Given the description of an element on the screen output the (x, y) to click on. 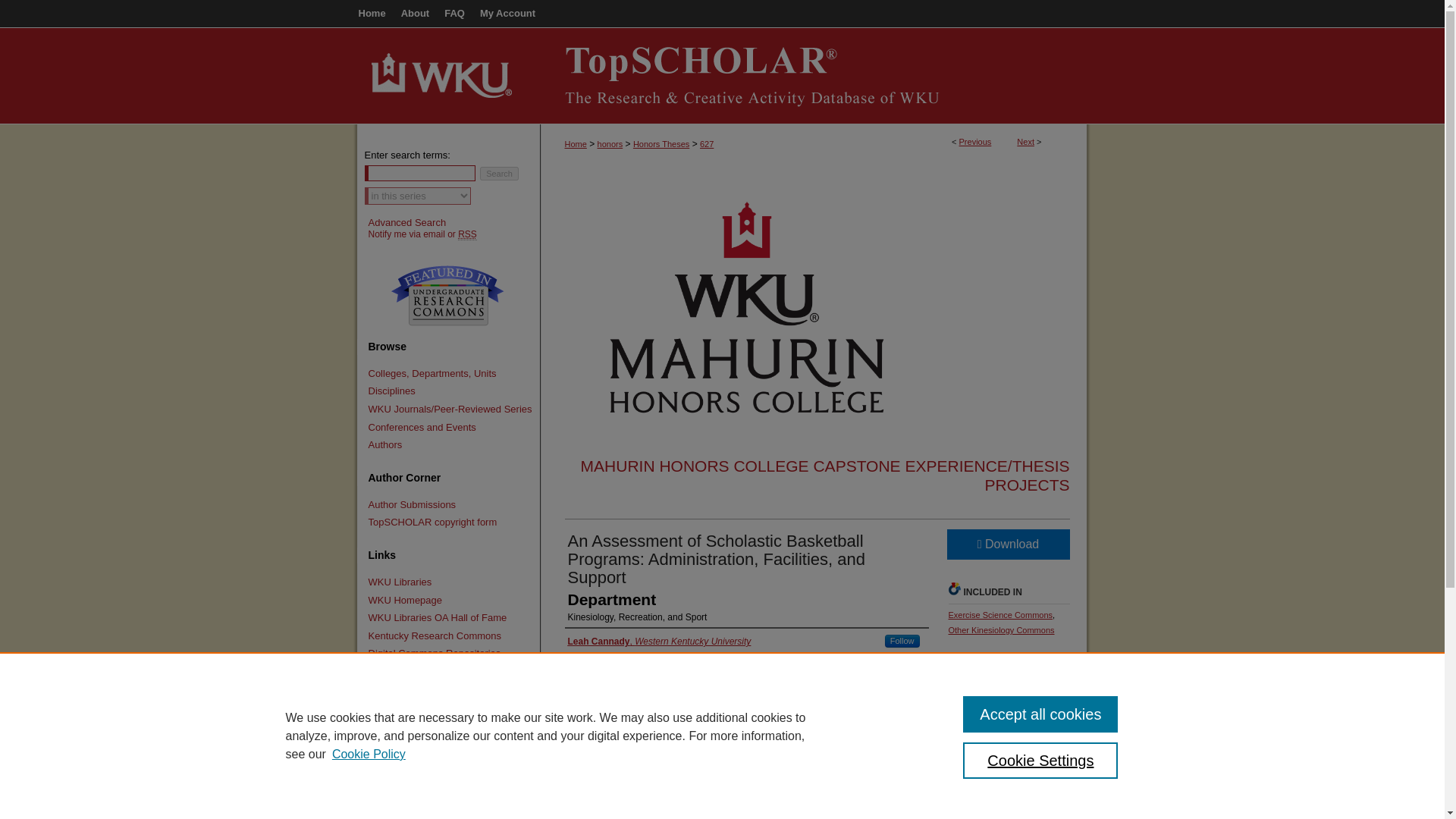
Share (1055, 694)
My Account (507, 13)
Follow Leah Cannady (902, 640)
627 (706, 143)
Home (371, 13)
Really Simple Syndication (467, 234)
Other Kinesiology Commons (1000, 629)
About (415, 13)
Notify me via email or RSS (450, 234)
Advanced Search (407, 222)
WhatsApp (1006, 694)
Next (1024, 141)
Exercise Science Commons (999, 614)
Western Kentucky University (441, 34)
